Given the description of an element on the screen output the (x, y) to click on. 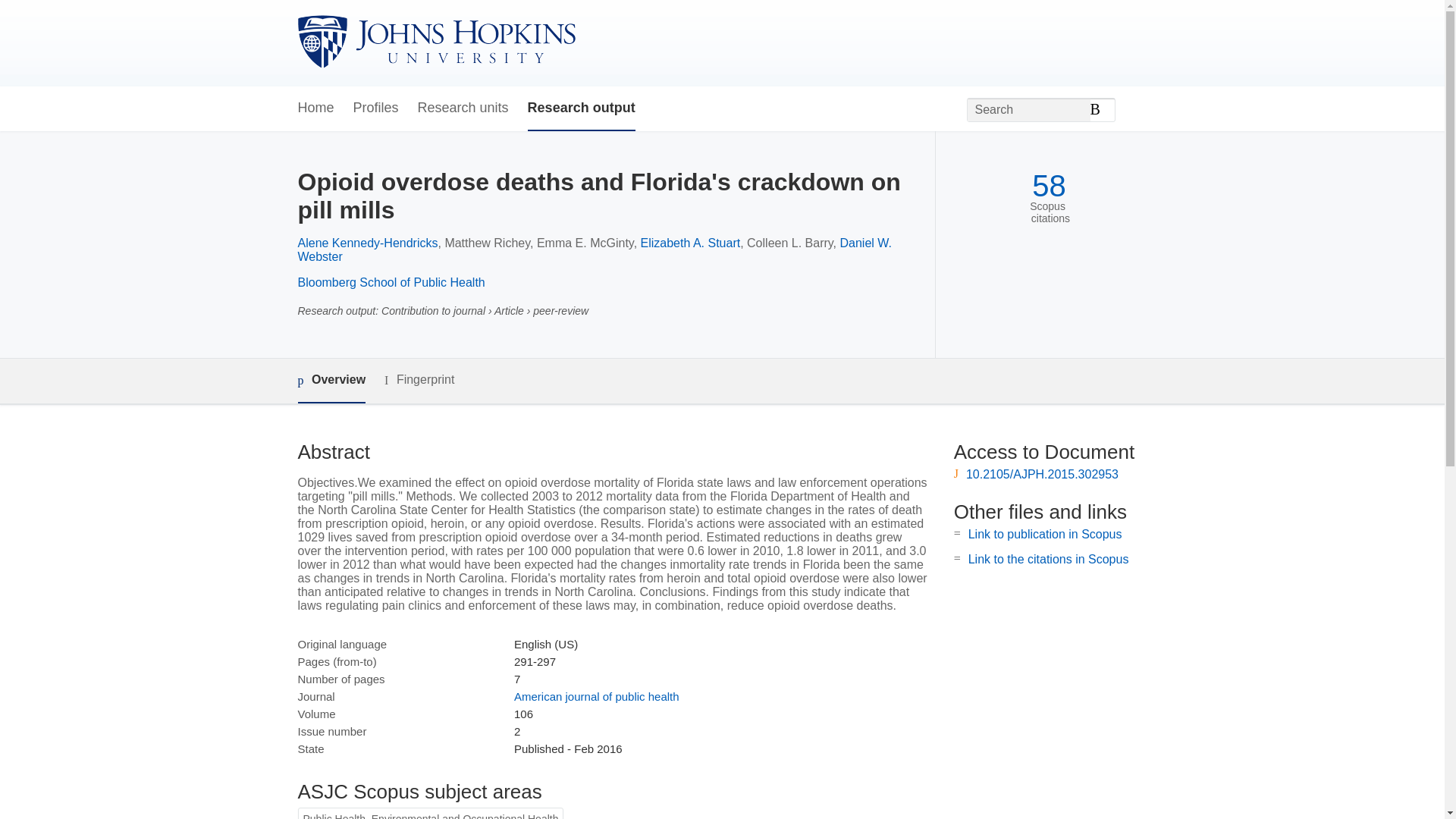
Johns Hopkins University Home (436, 43)
Link to the citations in Scopus (1048, 558)
Daniel W. Webster (594, 249)
American journal of public health (596, 696)
Profiles (375, 108)
Research units (462, 108)
58 (1048, 185)
Overview (331, 380)
Research output (580, 108)
Fingerprint (419, 380)
